Given the description of an element on the screen output the (x, y) to click on. 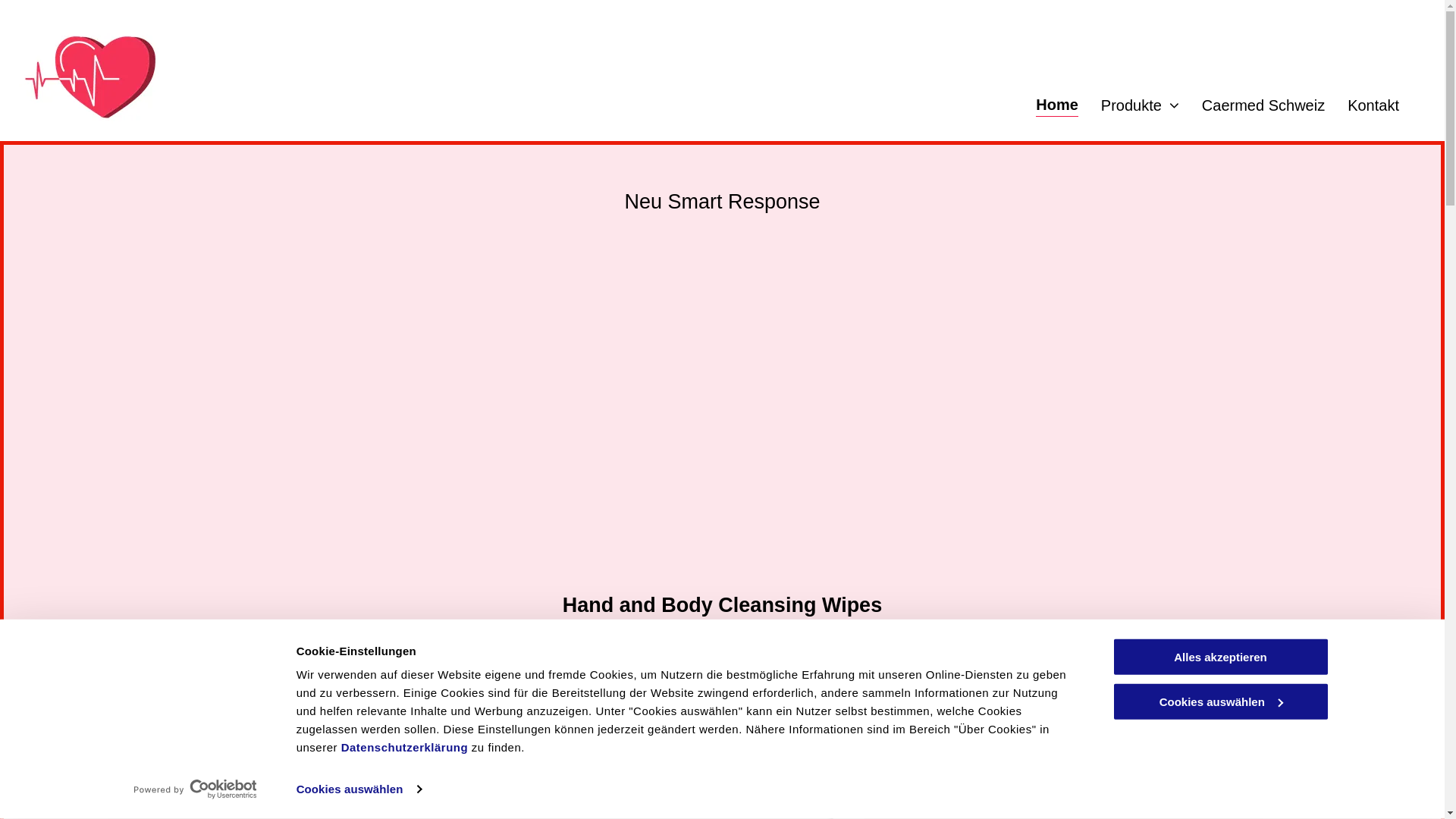
Caermed Schweiz Element type: text (1262, 104)
Alles akzeptieren Element type: text (1219, 656)
Produkte Element type: text (1140, 104)
Home Element type: text (1056, 104)
Kontakt Element type: text (1373, 104)
